Given the description of an element on the screen output the (x, y) to click on. 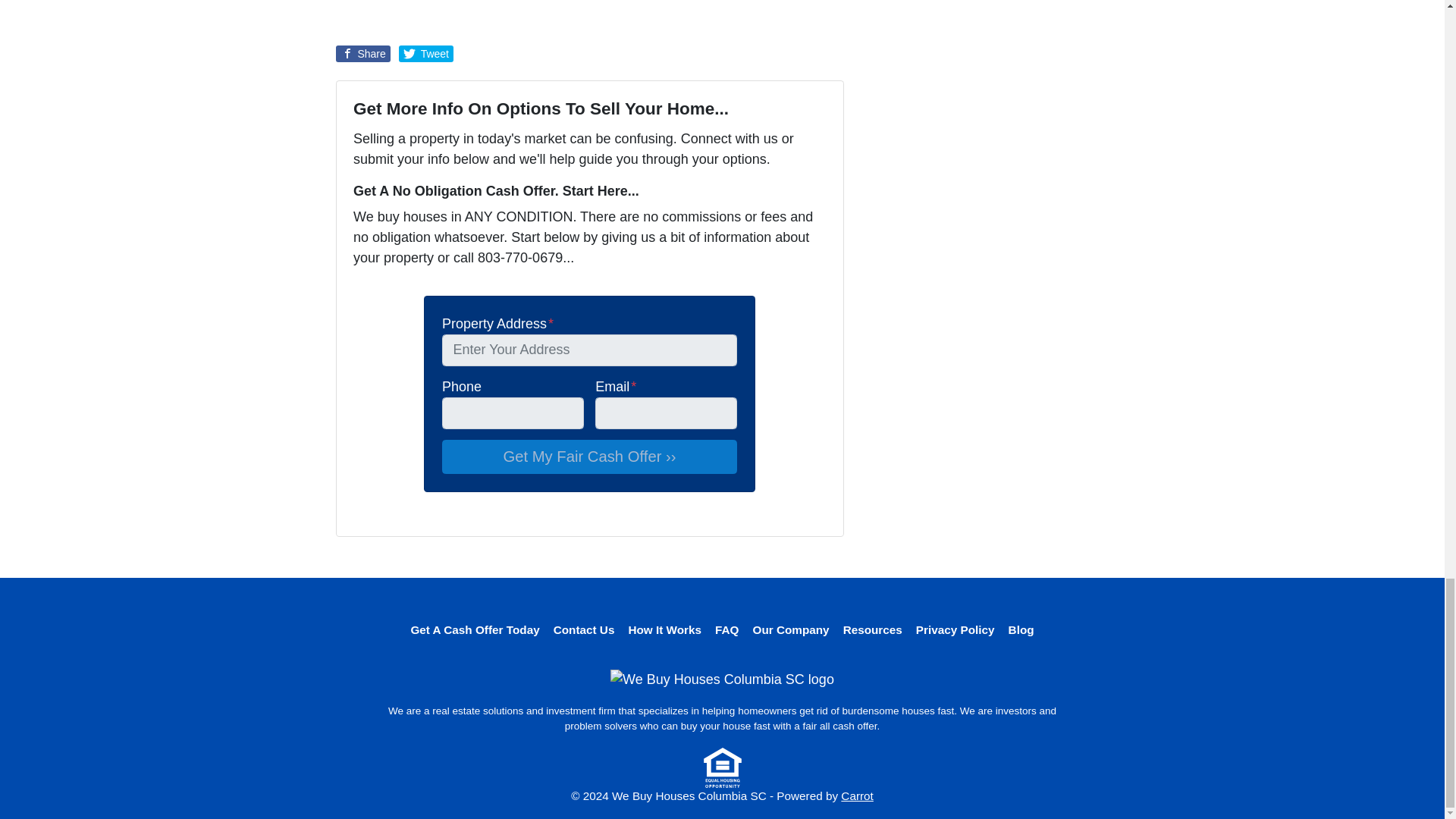
Get A Cash Offer Today (474, 630)
Share on Facebook (362, 53)
How It Works (664, 630)
Share on Twitter (425, 53)
Share (362, 53)
Tweet (425, 53)
Blog (1021, 630)
Privacy Policy (954, 630)
Contact Us (584, 630)
FAQ (726, 630)
